Given the description of an element on the screen output the (x, y) to click on. 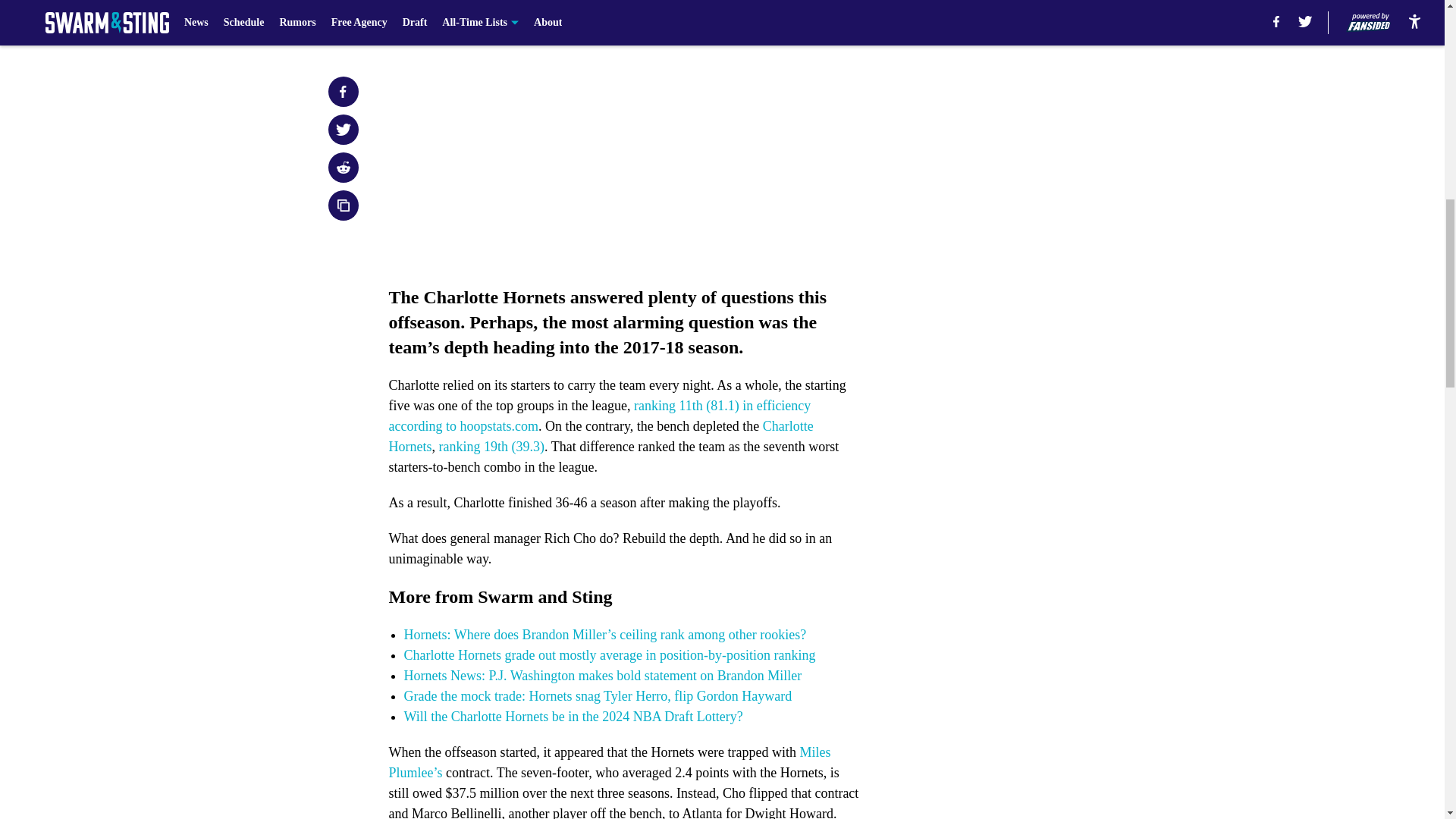
Charlotte Hornets (600, 436)
Will the Charlotte Hornets be in the 2024 NBA Draft Lottery? (572, 716)
